Given the description of an element on the screen output the (x, y) to click on. 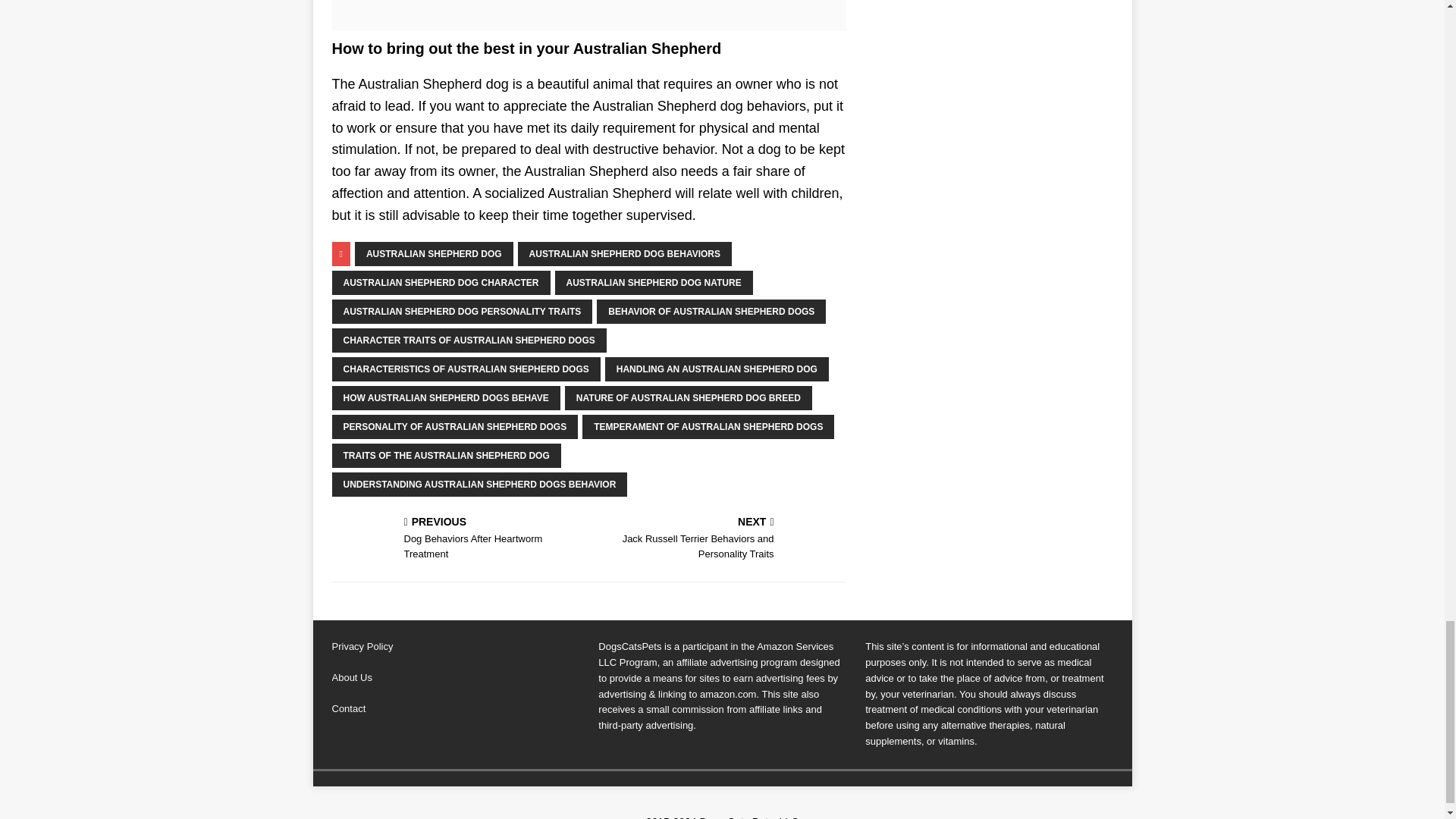
CHARACTERISTICS OF AUSTRALIAN SHEPHERD DOGS (465, 369)
UNDERSTANDING AUSTRALIAN SHEPHERD DOGS BEHAVIOR (479, 484)
AUSTRALIAN SHEPHERD DOG CHARACTER (440, 282)
About Us (351, 677)
AUSTRALIAN SHEPHERD DOG PERSONALITY TRAITS (461, 311)
TEMPERAMENT OF AUSTRALIAN SHEPHERD DOGS (708, 426)
AUSTRALIAN SHEPHERD DOG (434, 253)
BEHAVIOR OF AUSTRALIAN SHEPHERD DOGS (710, 311)
AUSTRALIAN SHEPHERD DOG BEHAVIORS (625, 253)
Privacy Policy (362, 645)
